Given the description of an element on the screen output the (x, y) to click on. 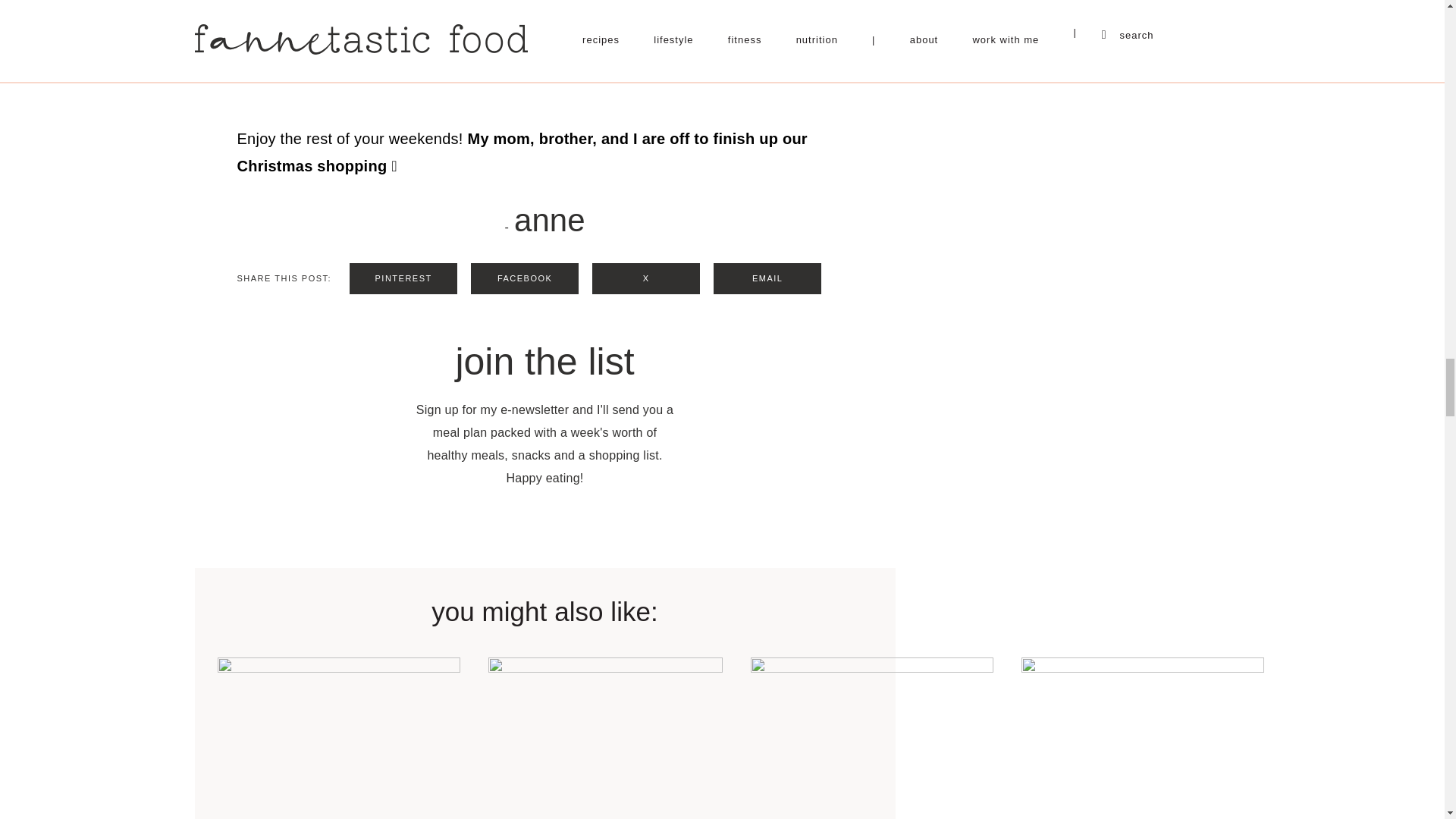
Wordless Wednesday: Running for Boston (871, 738)
EMAIL (767, 278)
FACEBOOK (524, 278)
X (646, 278)
Winter Breakfasts Return (604, 738)
Running the DC Zoo (338, 738)
